Given the description of an element on the screen output the (x, y) to click on. 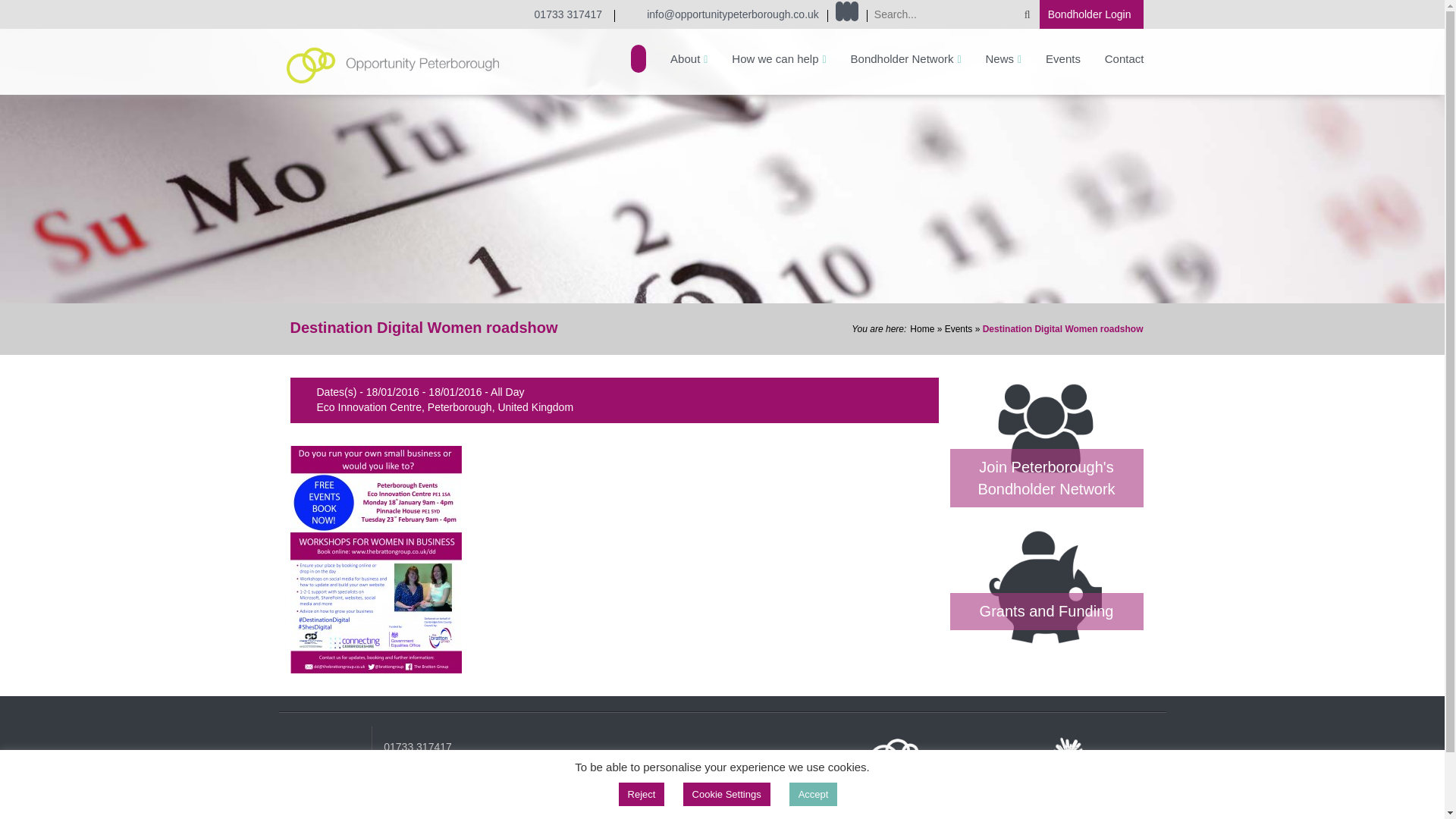
Opportunity Peterborough (392, 64)
